Given the description of an element on the screen output the (x, y) to click on. 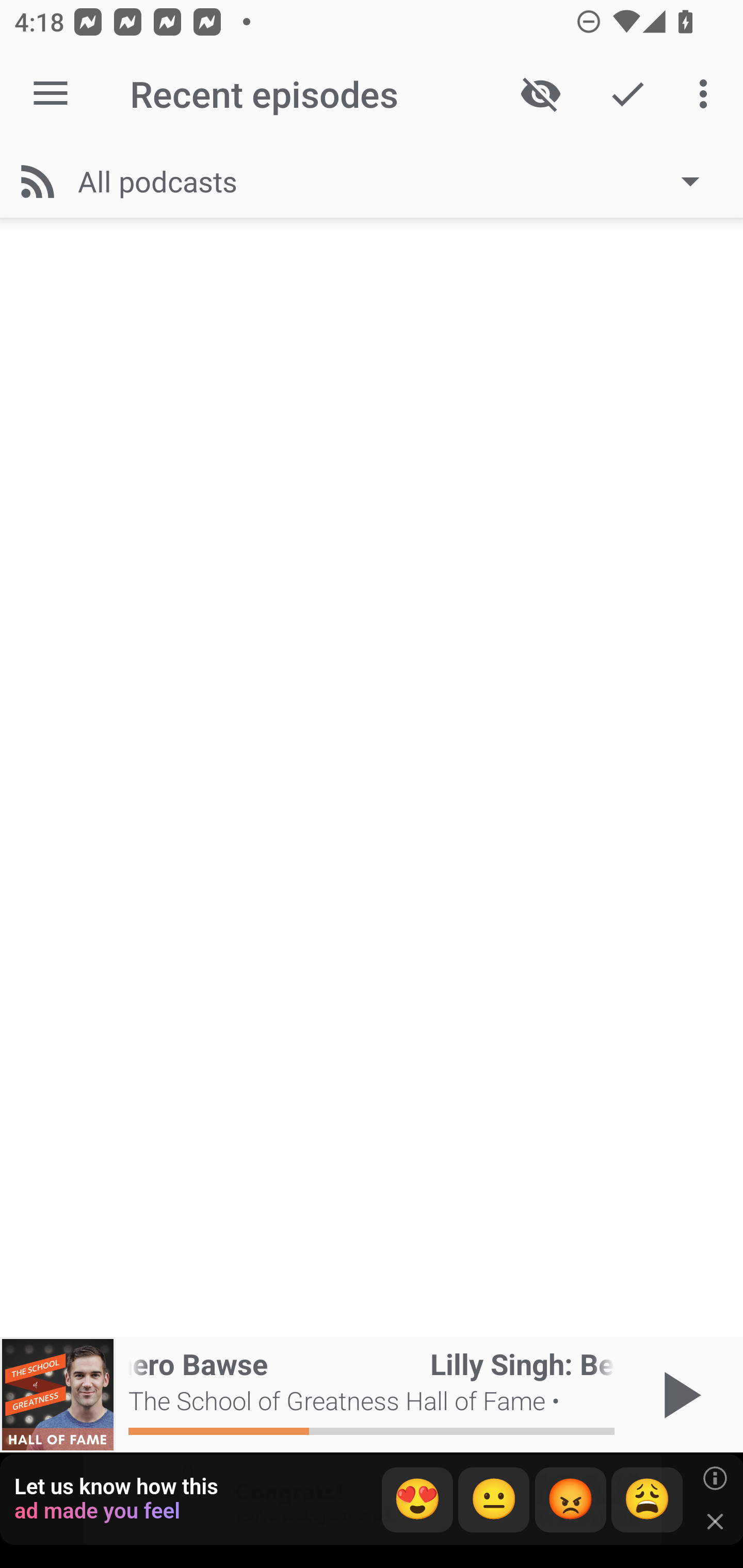
Open navigation sidebar (50, 93)
Show / Hide played content (540, 93)
Action Mode (626, 93)
More options (706, 93)
All podcasts (398, 180)
Play / Pause (677, 1394)
app-monetization (371, 1500)
😍 (416, 1499)
😐 (493, 1499)
😡 (570, 1499)
😩 (647, 1499)
